Given the description of an element on the screen output the (x, y) to click on. 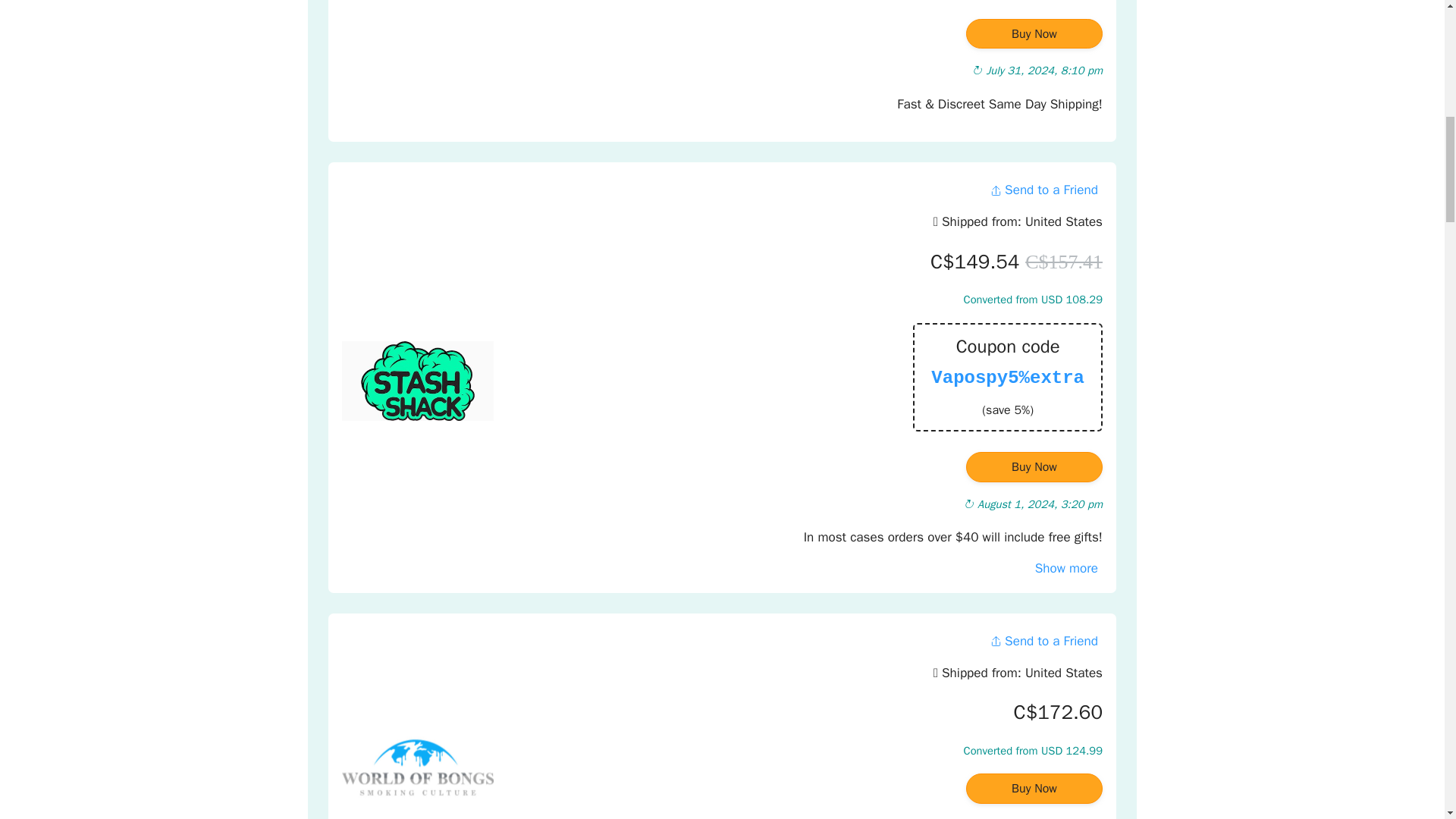
Send to a Friend (1043, 641)
Show more (1066, 568)
Buy Now (1034, 788)
Stash Shack (417, 380)
Buy Now (1034, 33)
Send to a Friend (1043, 189)
Buy Now (1034, 467)
World of Bongs (417, 767)
